Given the description of an element on the screen output the (x, y) to click on. 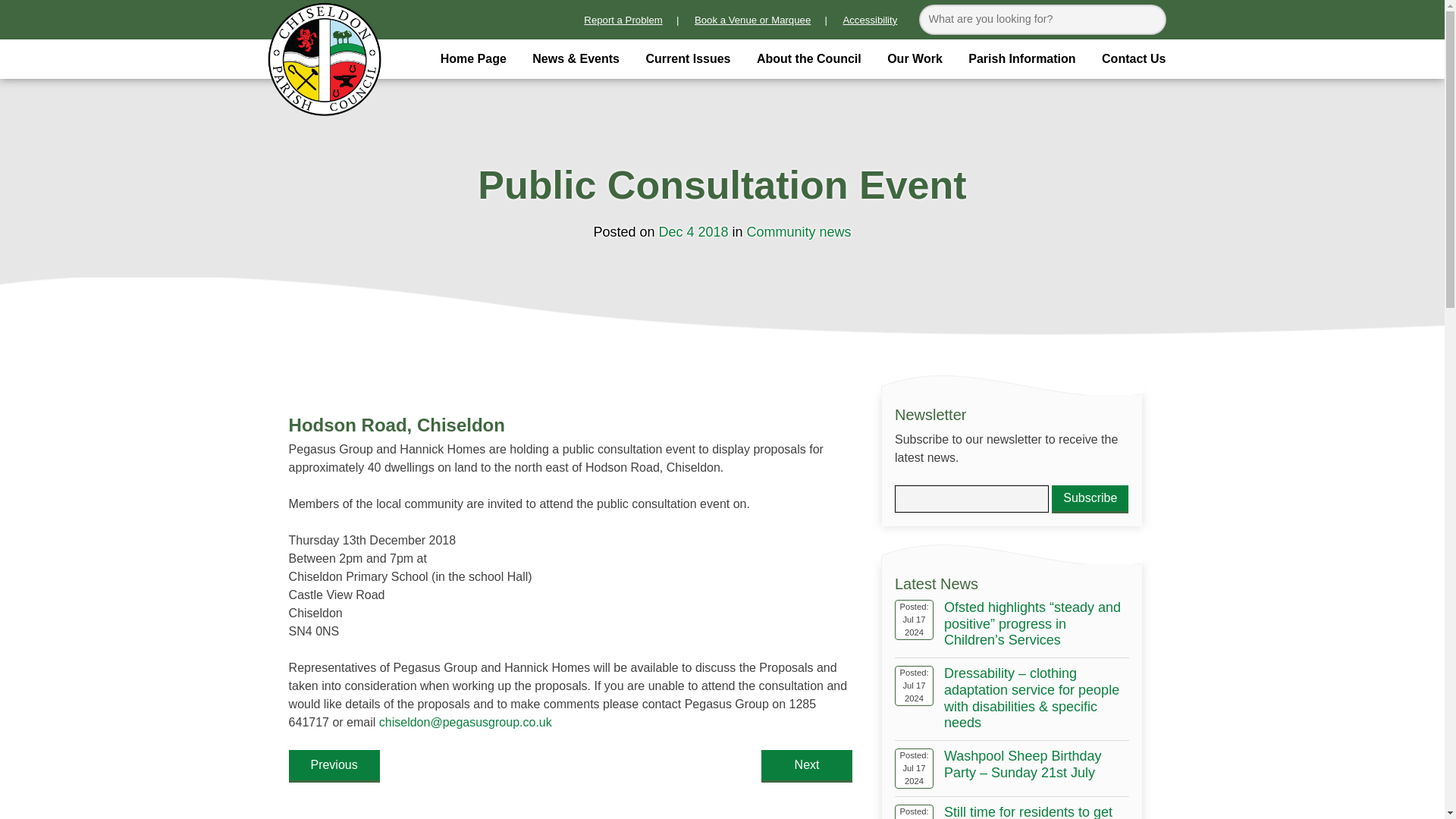
Report a Problem (622, 20)
Current Issues (687, 58)
Subscribe (1089, 499)
Search for: (1042, 19)
About the Council (808, 58)
Home Page (473, 58)
Search (1150, 19)
Accessibility (869, 20)
Book a Venue or Marquee (752, 20)
Search (1150, 19)
Search (1150, 19)
Chiseldon Parish Council Issue Tracker (622, 20)
